Given the description of an element on the screen output the (x, y) to click on. 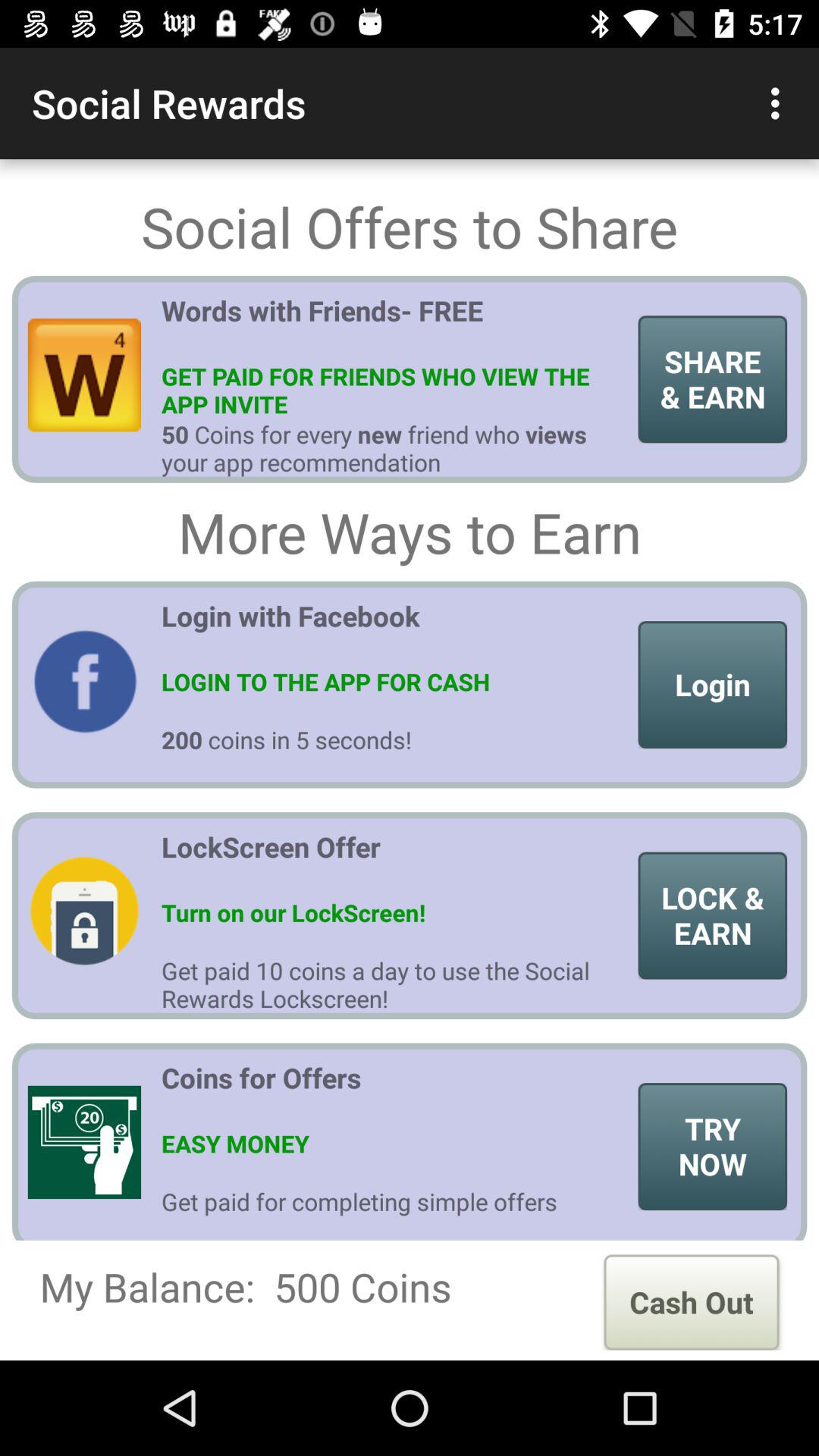
open lock & earn item (712, 915)
